Given the description of an element on the screen output the (x, y) to click on. 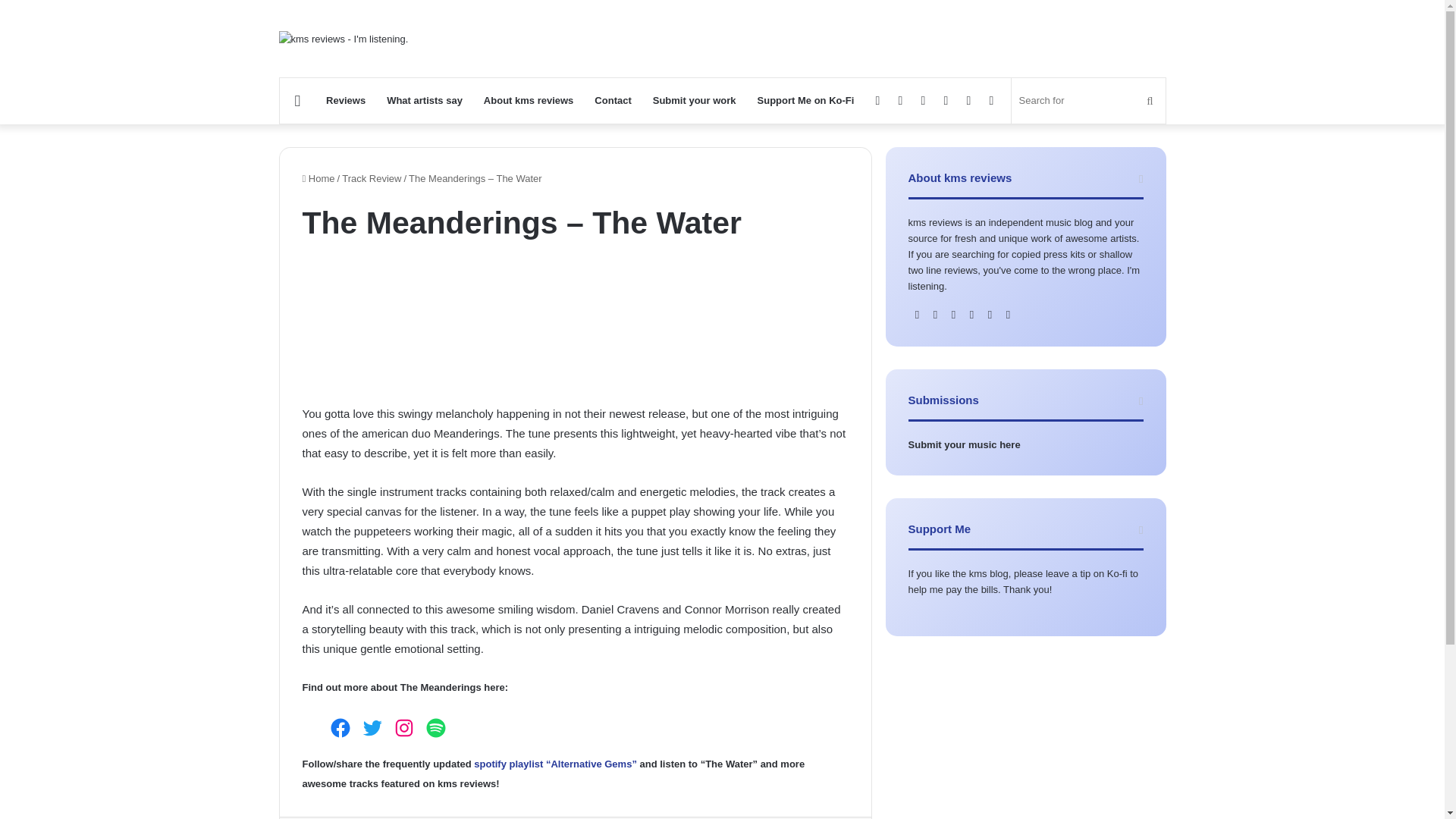
Reviews (345, 100)
Track Review (371, 178)
Submit your work (694, 100)
Facebook (340, 727)
What artists say (424, 100)
Contact (612, 100)
Support Me on Ko-Fi (805, 100)
About kms reviews (529, 100)
Twitter (372, 727)
Spotify (435, 727)
